Given the description of an element on the screen output the (x, y) to click on. 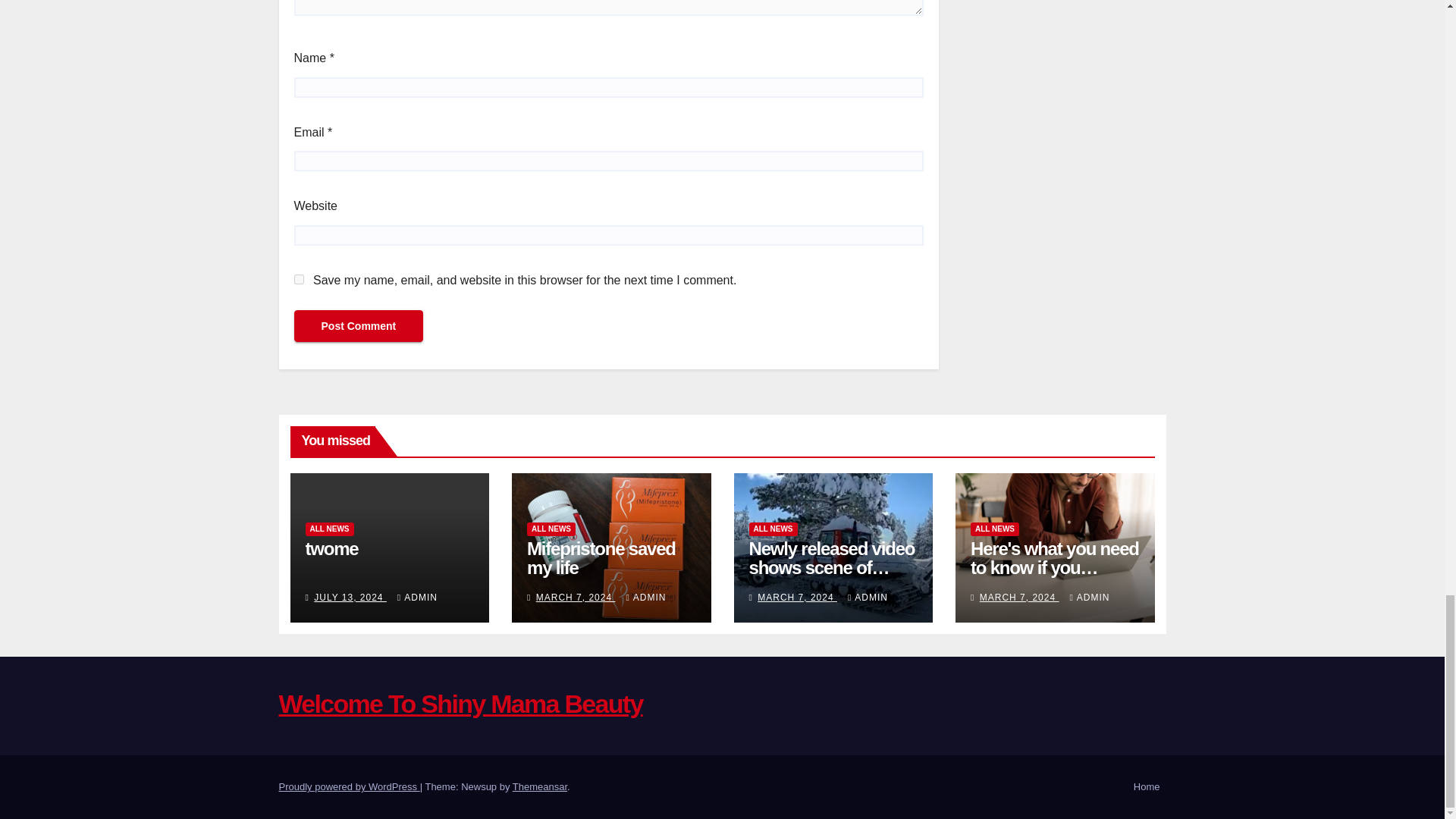
Post Comment (358, 326)
Home (1146, 786)
yes (299, 279)
Permalink to: Mifepristone saved my life (601, 558)
Permalink to: twome (331, 548)
